Given the description of an element on the screen output the (x, y) to click on. 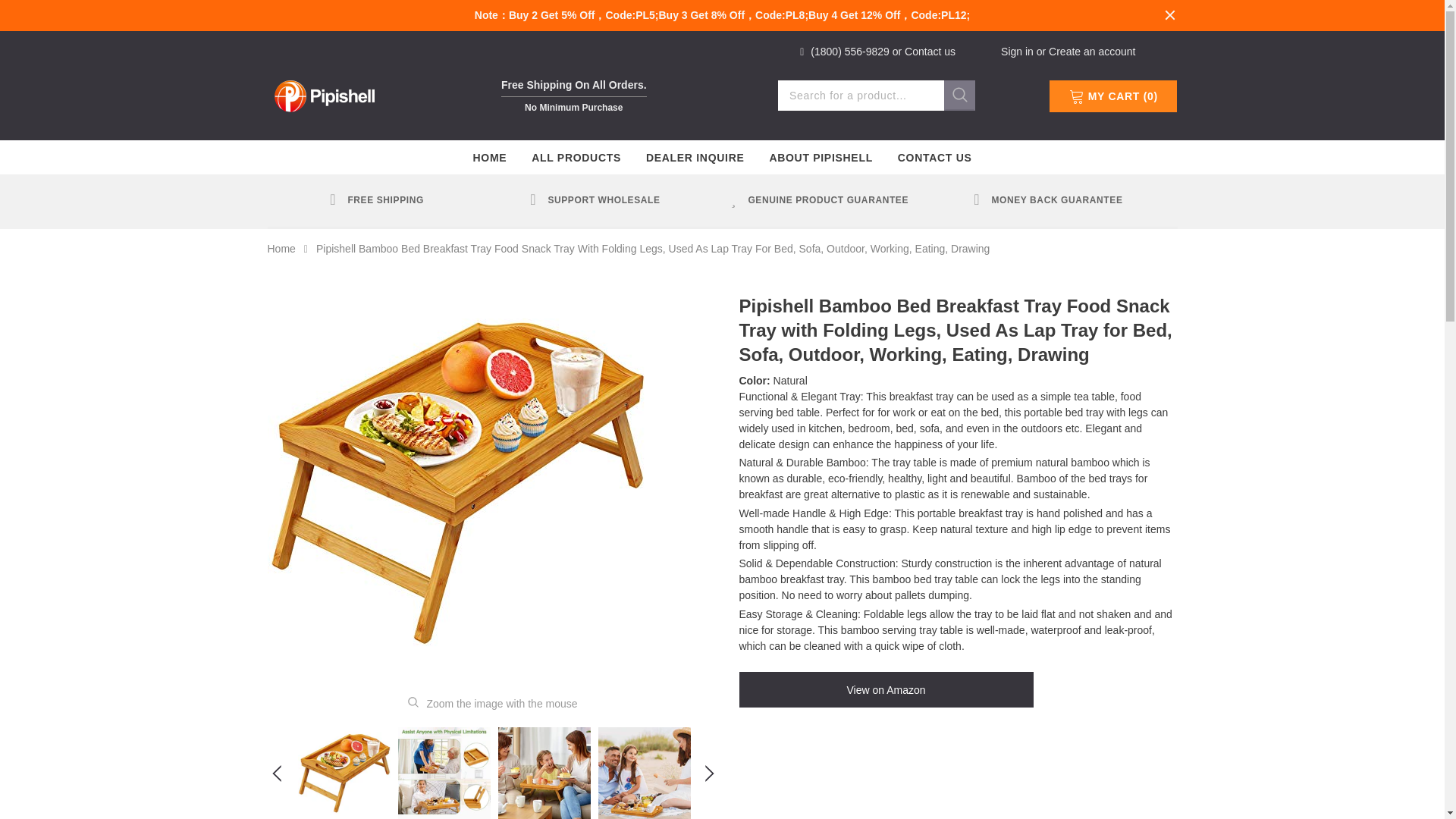
Logo (323, 94)
DEALER INQUIRE (695, 157)
Create an account (1091, 51)
CONTACT US (935, 157)
ALL PRODUCTS (576, 157)
Sign in (1018, 51)
close (1168, 14)
HOME (488, 157)
ABOUT PIPISHELL (820, 157)
Contact us (929, 51)
